Given the description of an element on the screen output the (x, y) to click on. 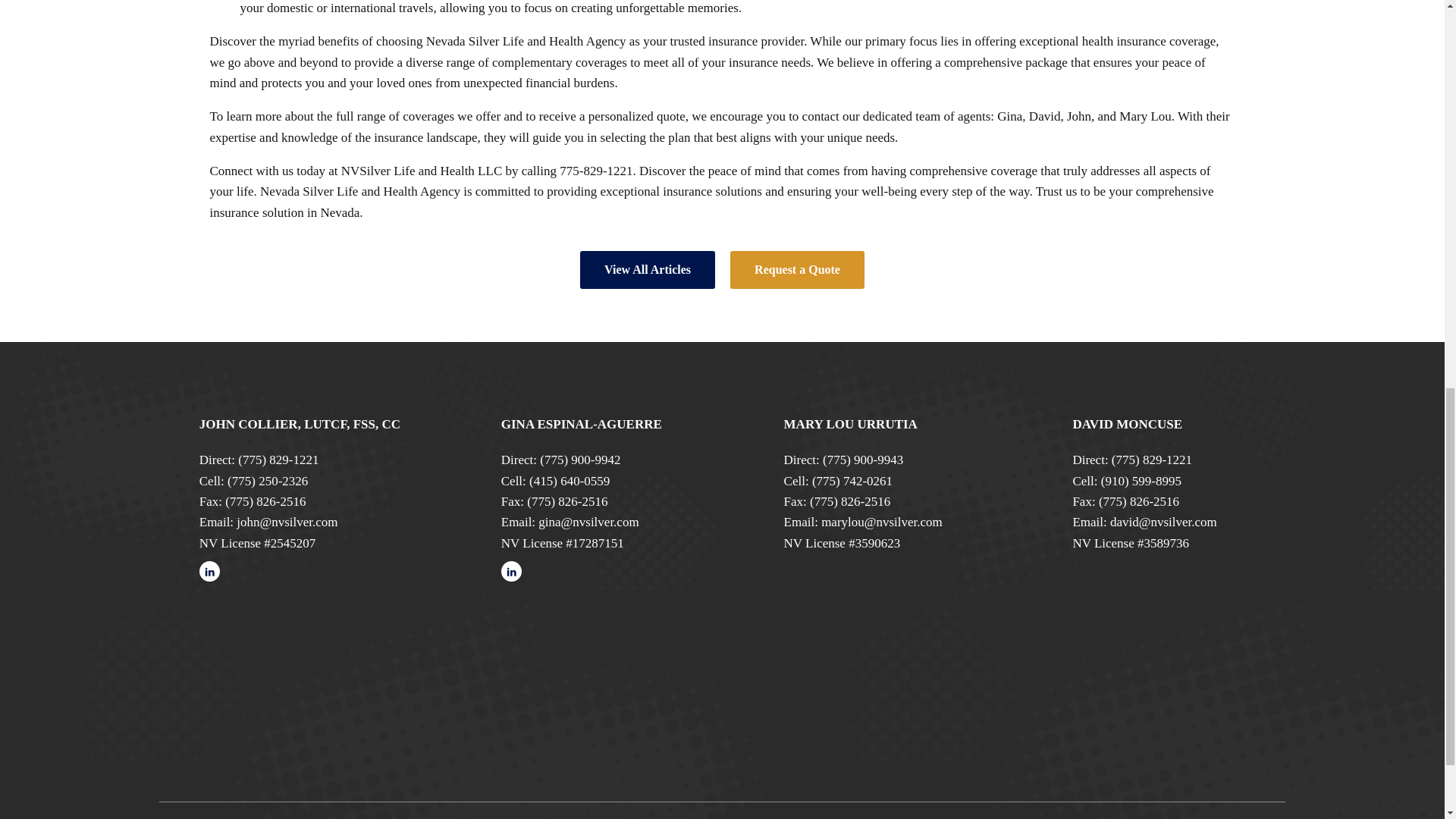
View All Articles (646, 269)
Request a Quote (797, 269)
